Given the description of an element on the screen output the (x, y) to click on. 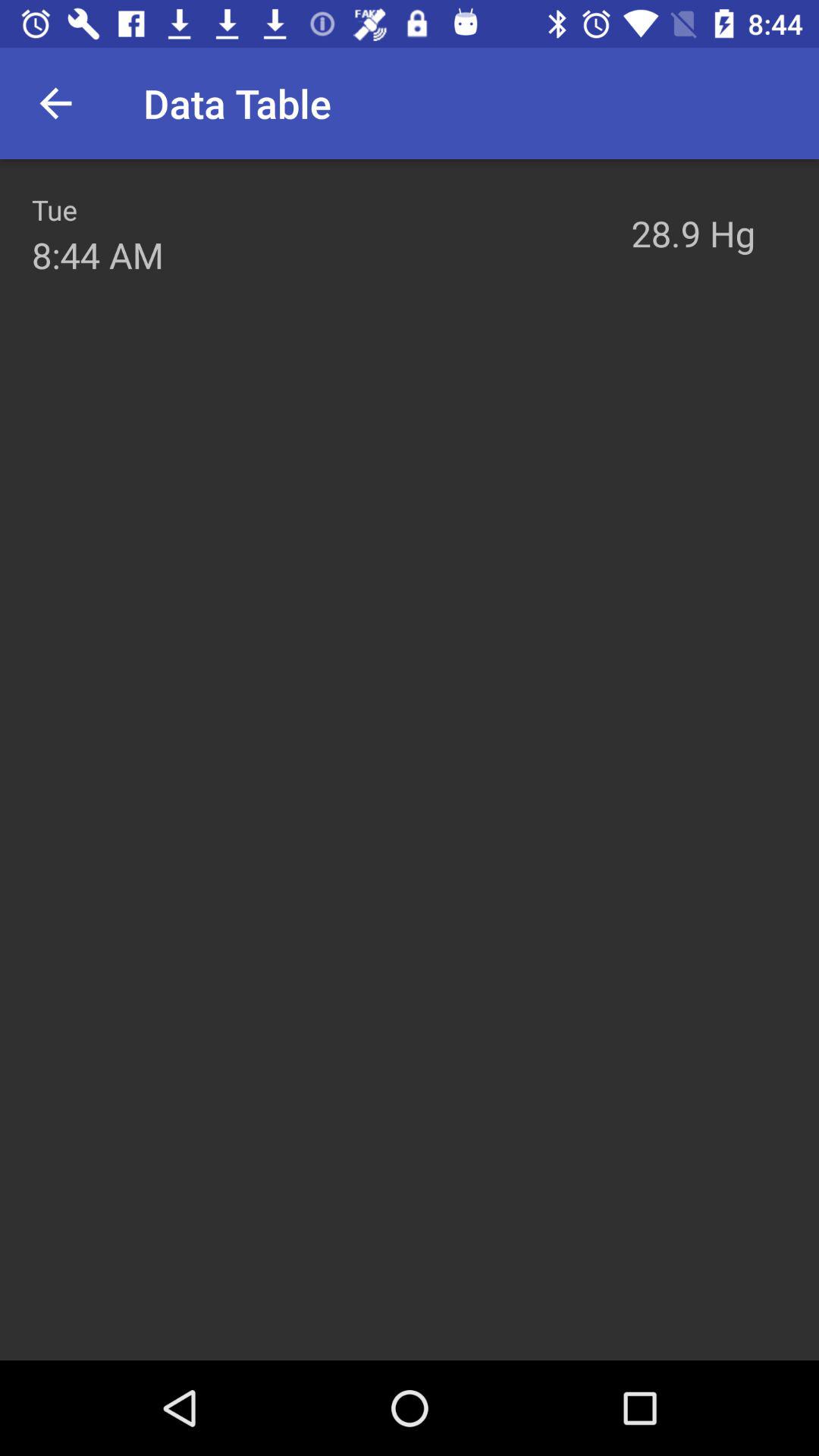
turn off the icon next to data table item (55, 103)
